Given the description of an element on the screen output the (x, y) to click on. 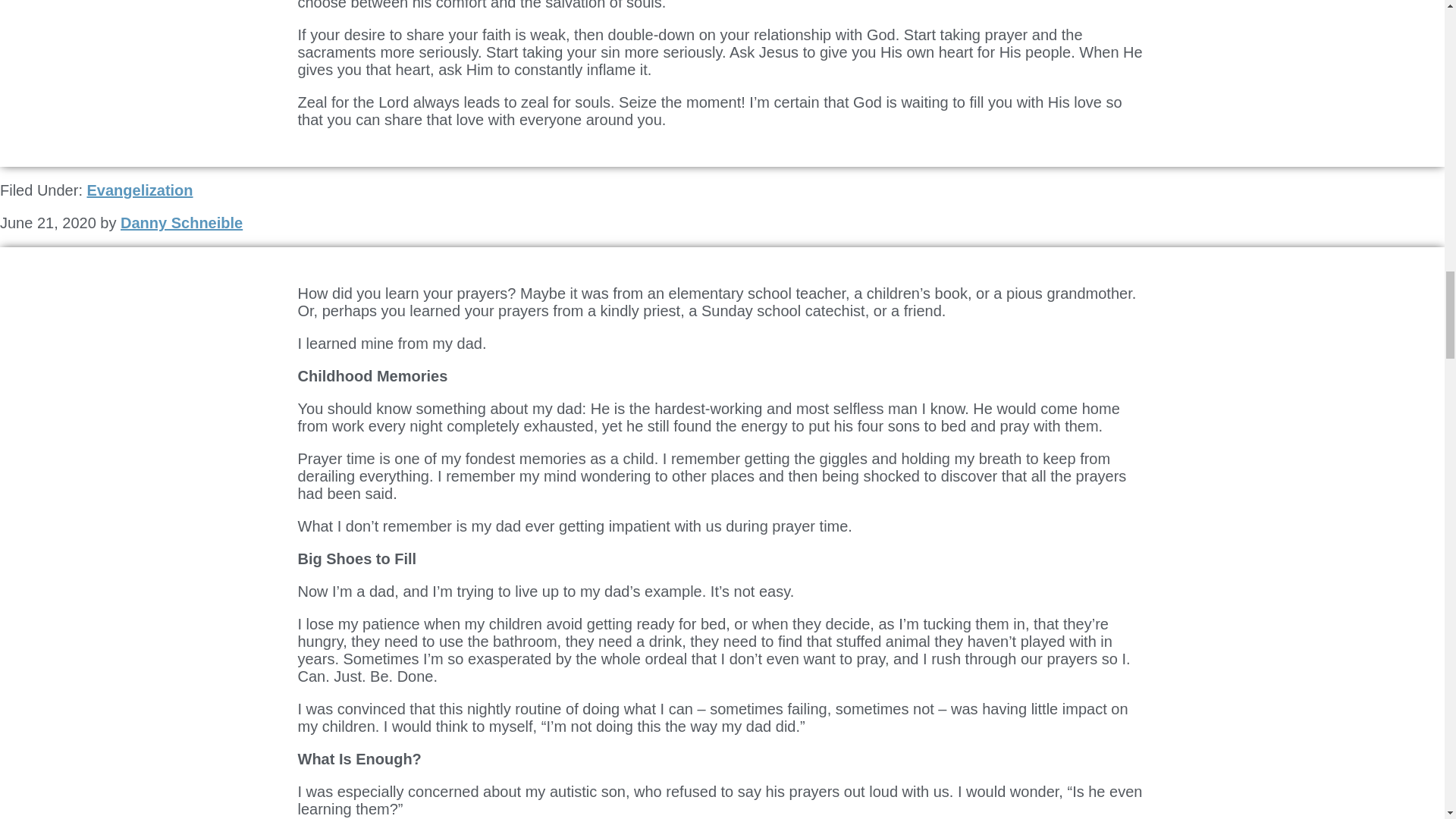
Danny Schneible (181, 222)
Evangelization (138, 190)
